Given the description of an element on the screen output the (x, y) to click on. 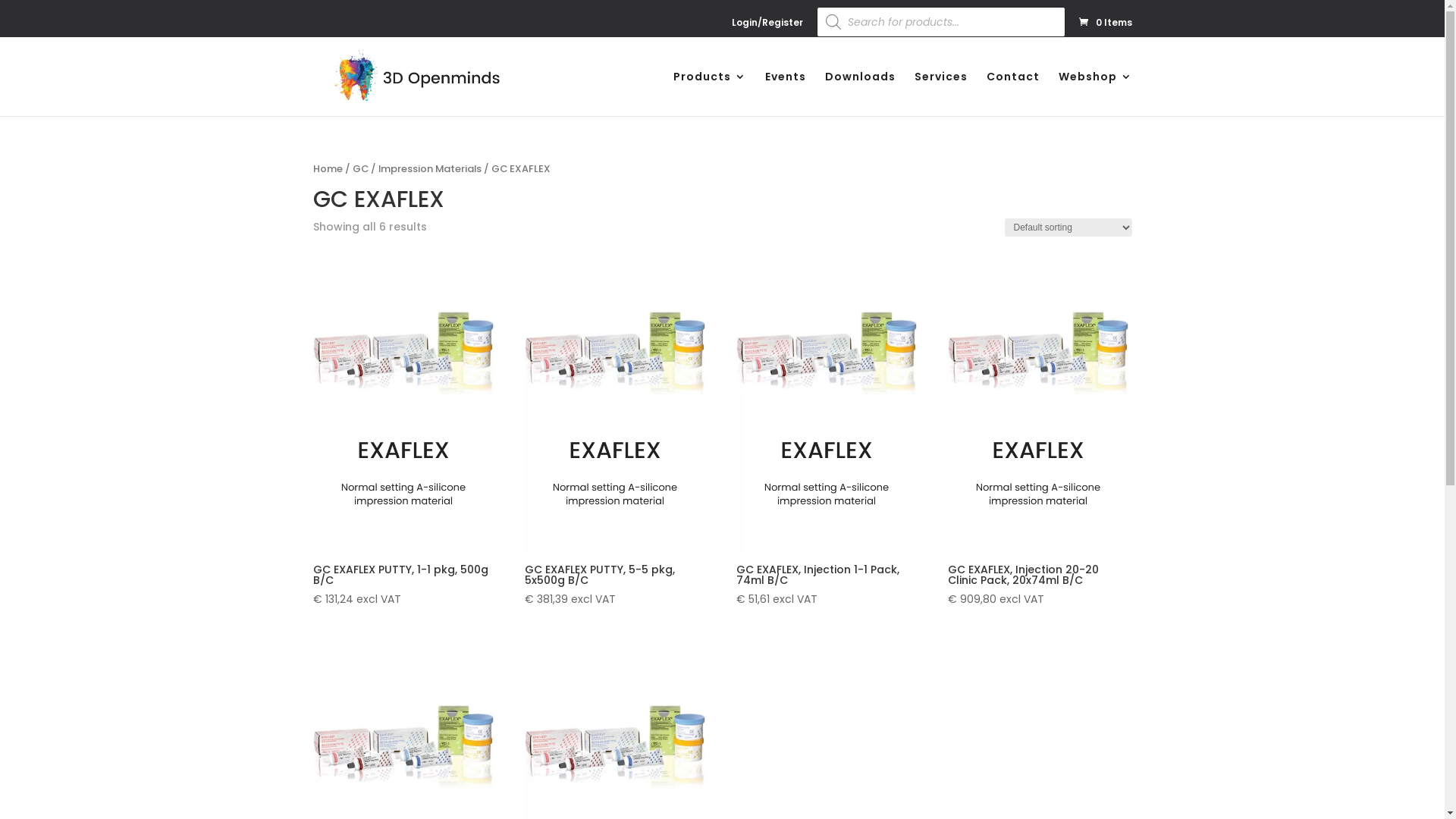
Login/Register Element type: text (766, 26)
Impression Materials Element type: text (428, 168)
GC Element type: text (359, 168)
Contact Element type: text (1011, 93)
Events Element type: text (784, 93)
Services Element type: text (940, 93)
Products Element type: text (709, 93)
0 Items Element type: text (1104, 21)
Webshop Element type: text (1095, 93)
Downloads Element type: text (860, 93)
Home Element type: text (327, 168)
